Given the description of an element on the screen output the (x, y) to click on. 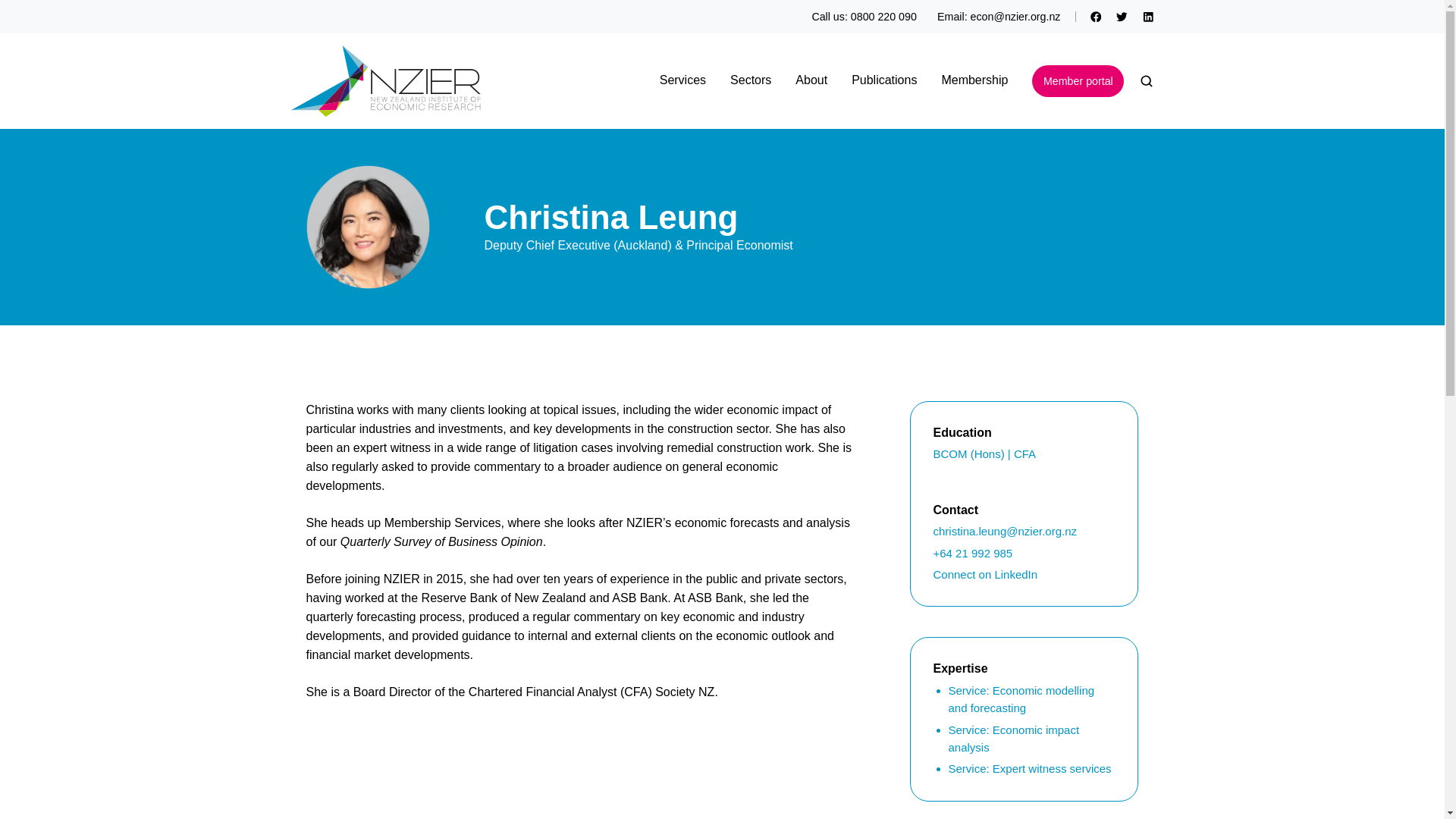
Services (682, 80)
Sectors (750, 80)
0800 220 090 (883, 16)
NZIER-logo-wide (385, 81)
About (810, 80)
